Given the description of an element on the screen output the (x, y) to click on. 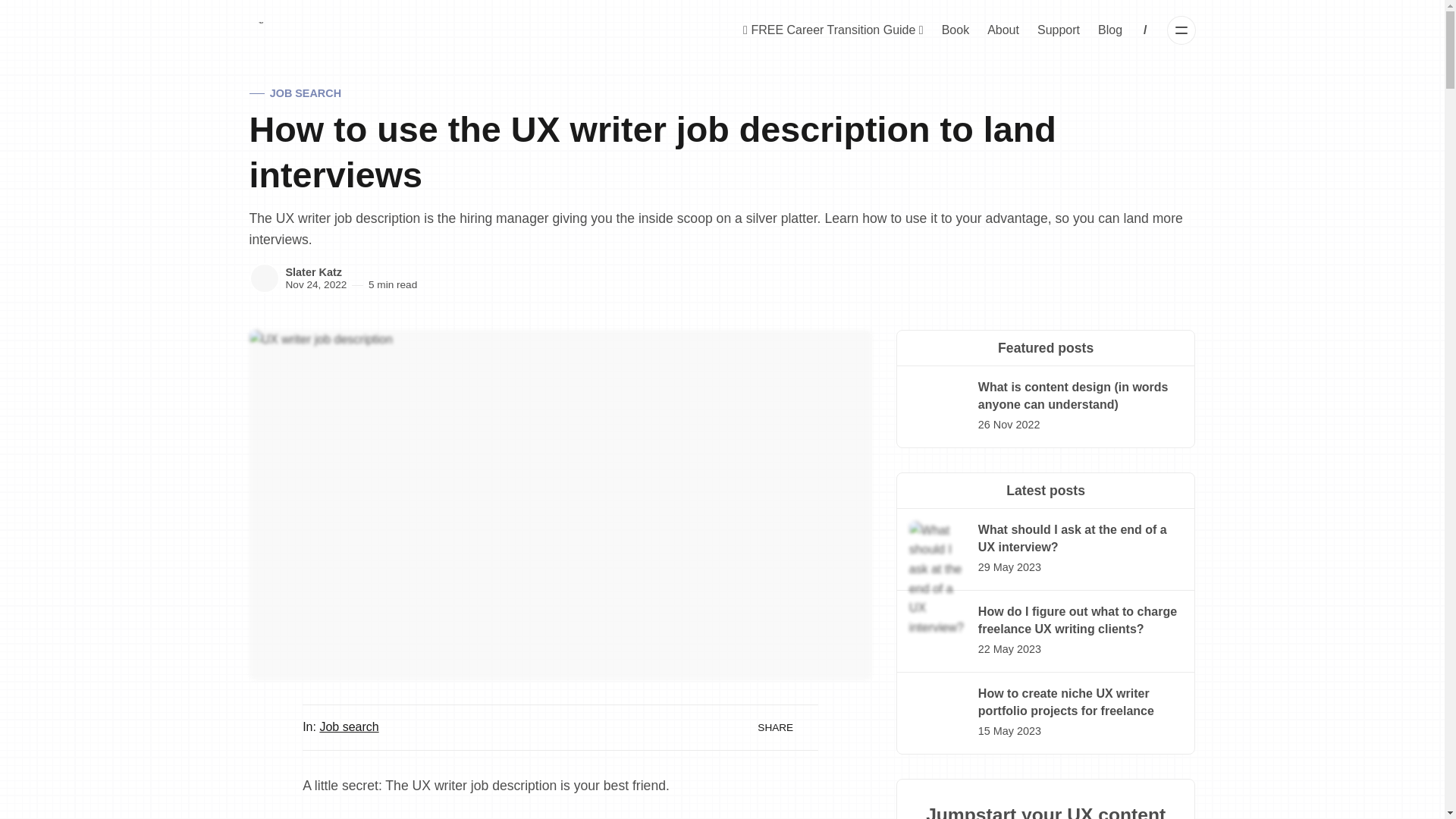
Slater Katz (312, 272)
Menu (1181, 30)
Slater Katz (263, 277)
Book (955, 29)
Support (1058, 29)
JOB SEARCH (294, 93)
SHARE (783, 727)
About (1003, 29)
Blog (1109, 29)
Job search (348, 726)
